Given the description of an element on the screen output the (x, y) to click on. 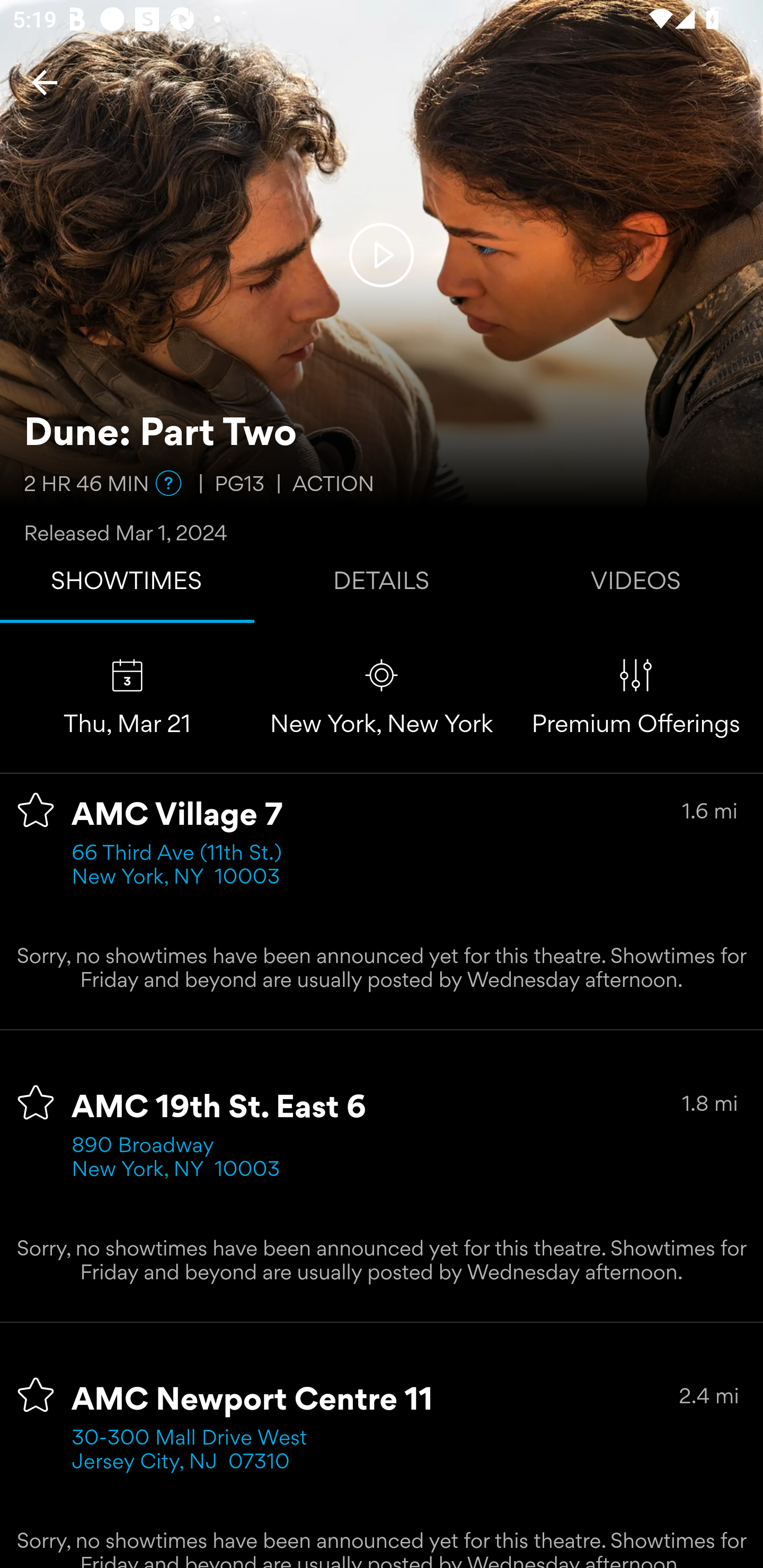
Back (44, 82)
Play (381, 254)
Help (168, 482)
SHOWTIMES
Tab 1 of 3 (127, 584)
DETAILS
Tab 2 of 3 (381, 584)
VIDEOS
Tab 3 of 3 (635, 584)
Change selected day
Thu, Mar 21 (127, 697)
Change location
New York, New York (381, 697)
Premium Offerings
Premium Offerings (635, 697)
AMC Village 7 (177, 816)
66 Third Ave (11th St.)  
New York, NY  10003 (182, 866)
AMC 19th St. East 6 (219, 1108)
890 Broadway  
New York, NY  10003 (176, 1158)
AMC Newport Centre 11 (252, 1400)
30-300 Mall Drive West  
Jersey City, NJ  07310 (195, 1450)
